Given the description of an element on the screen output the (x, y) to click on. 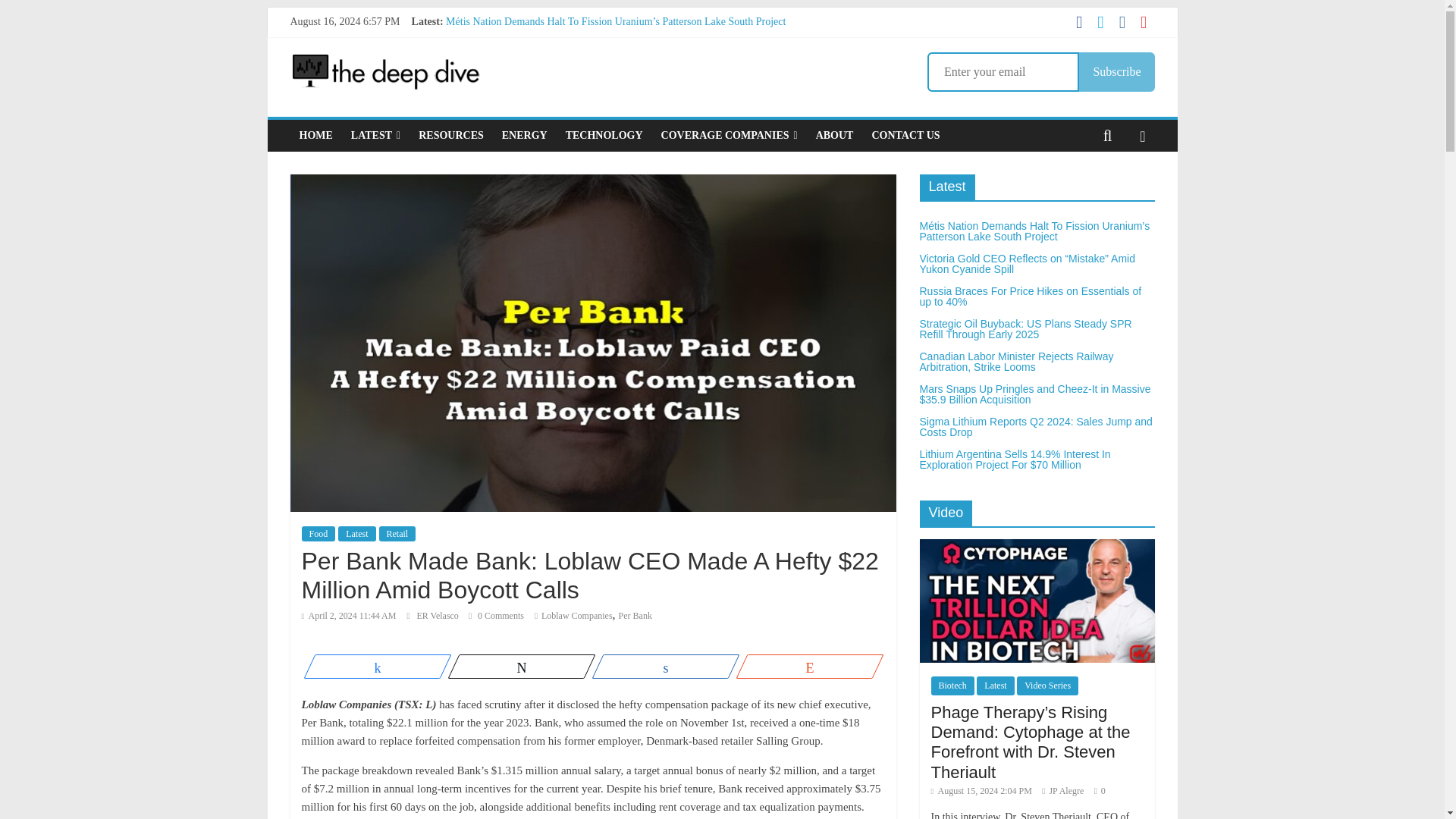
ER Velasco (438, 615)
TECHNOLOGY (604, 135)
HOME (314, 135)
COVERAGE COMPANIES (729, 135)
RESOURCES (451, 135)
LATEST (375, 135)
